Given the description of an element on the screen output the (x, y) to click on. 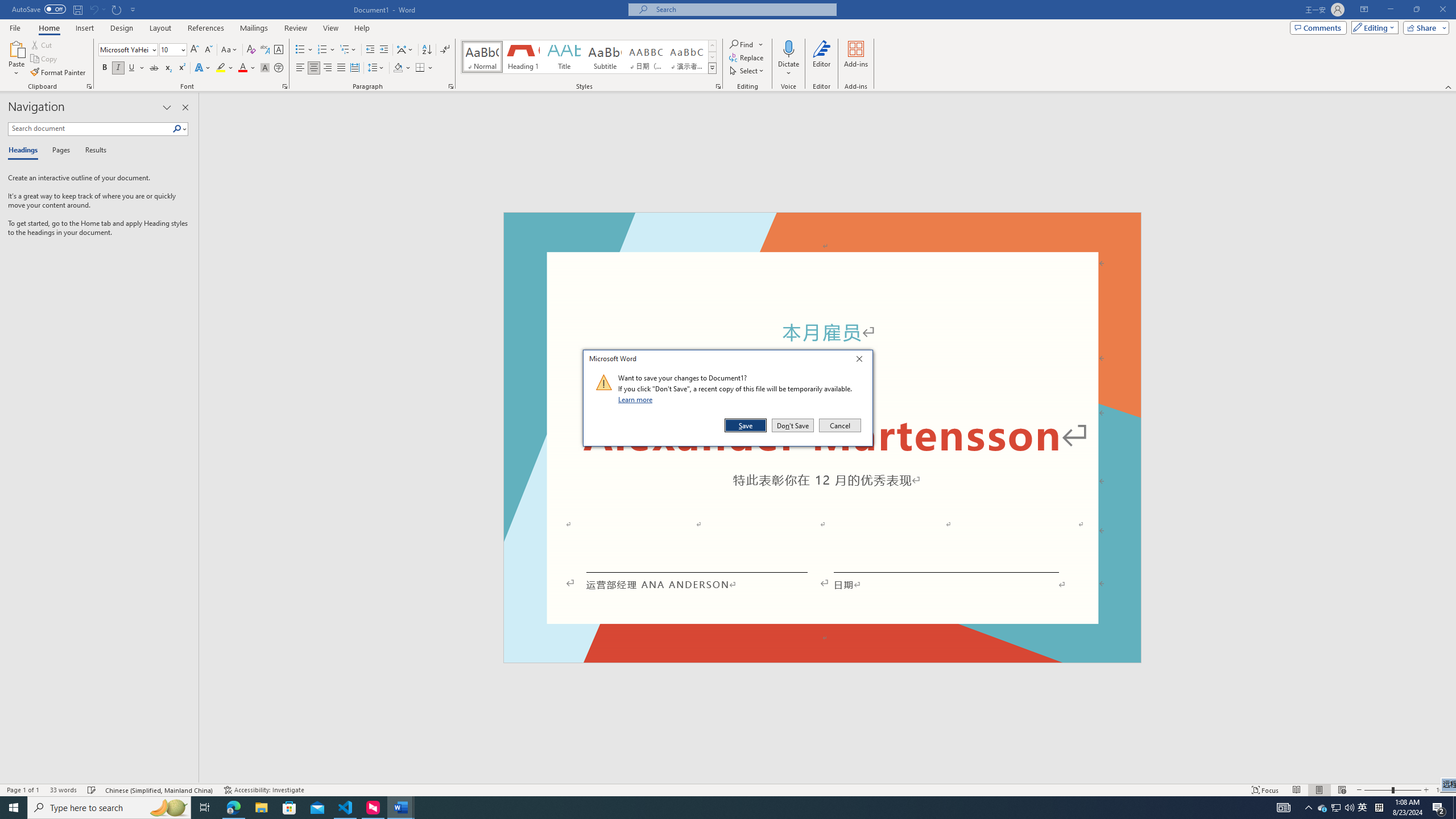
Notification Chevron (1308, 807)
Shading (402, 67)
Don't Save (792, 425)
User Promoted Notification Area (1336, 807)
Headings (25, 150)
Accessibility Checker Accessibility: Investigate (263, 790)
Format Painter (58, 72)
Styles... (717, 85)
Font Color (246, 67)
Font Color Red (241, 67)
